Given the description of an element on the screen output the (x, y) to click on. 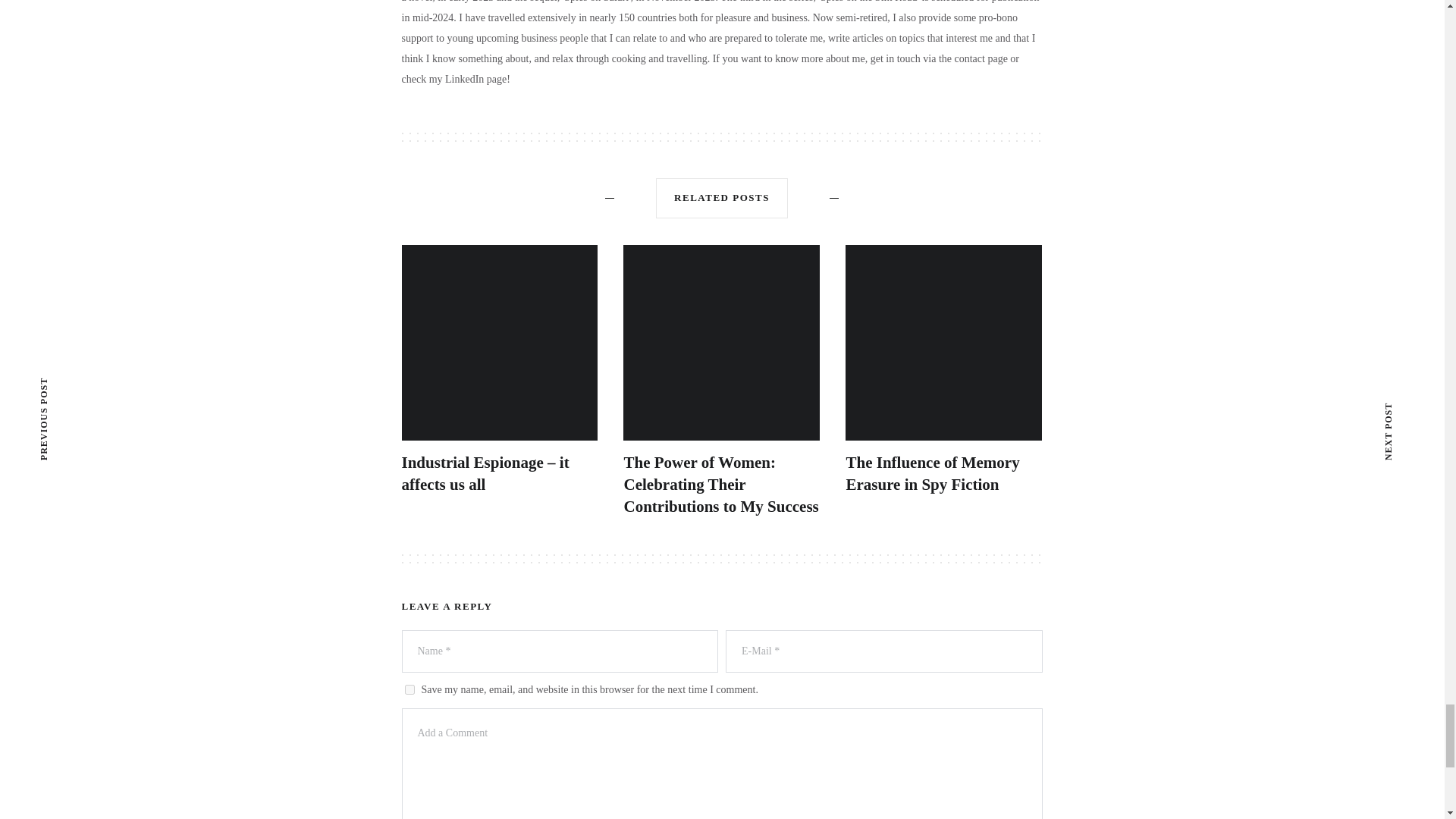
yes (409, 689)
The Influence of Memory Erasure in Spy Fiction (932, 473)
